Given the description of an element on the screen output the (x, y) to click on. 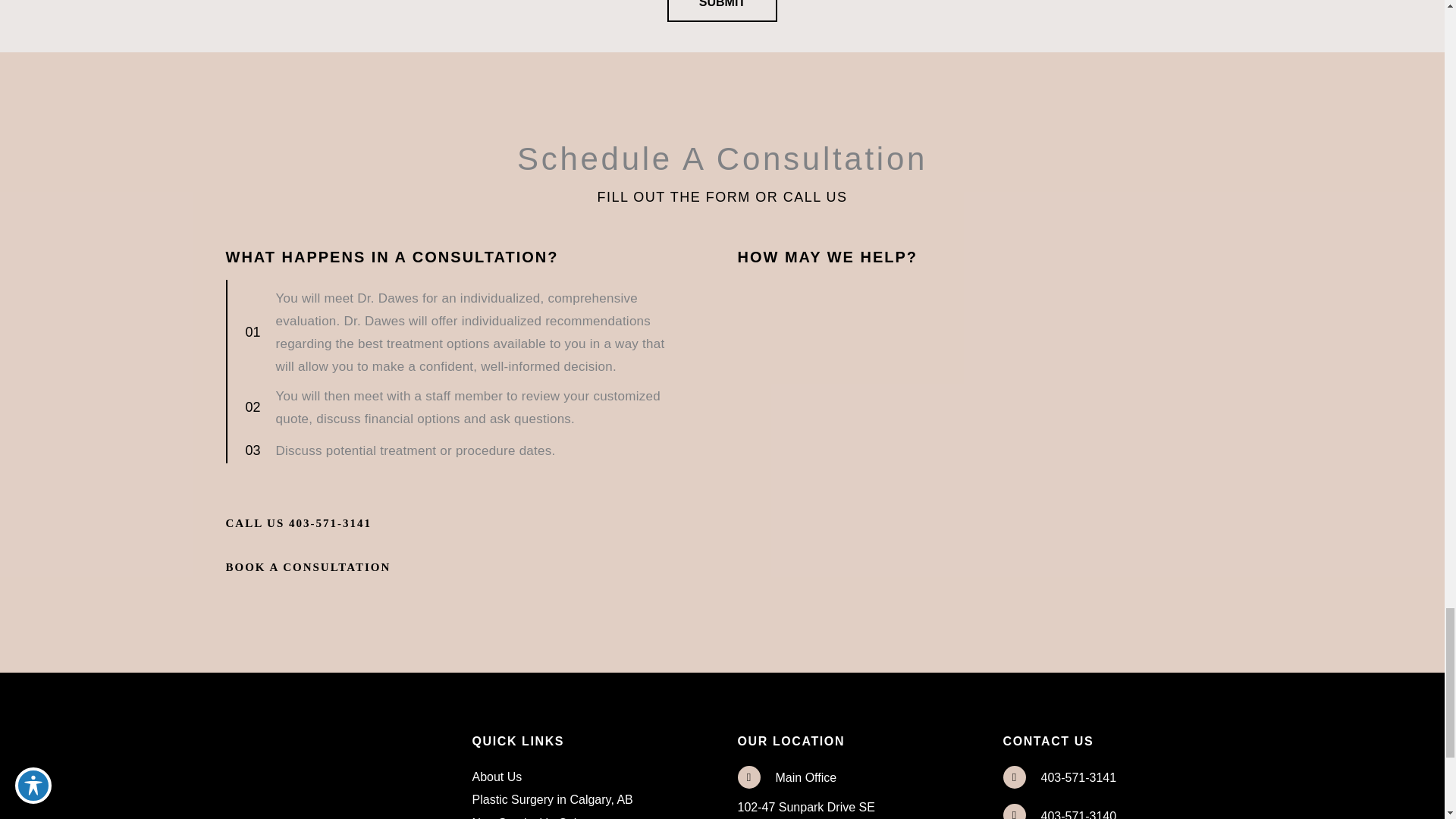
jeffreydaweslogo final white (308, 738)
Click Here (308, 566)
Click Here (298, 522)
Submit (721, 11)
